Given the description of an element on the screen output the (x, y) to click on. 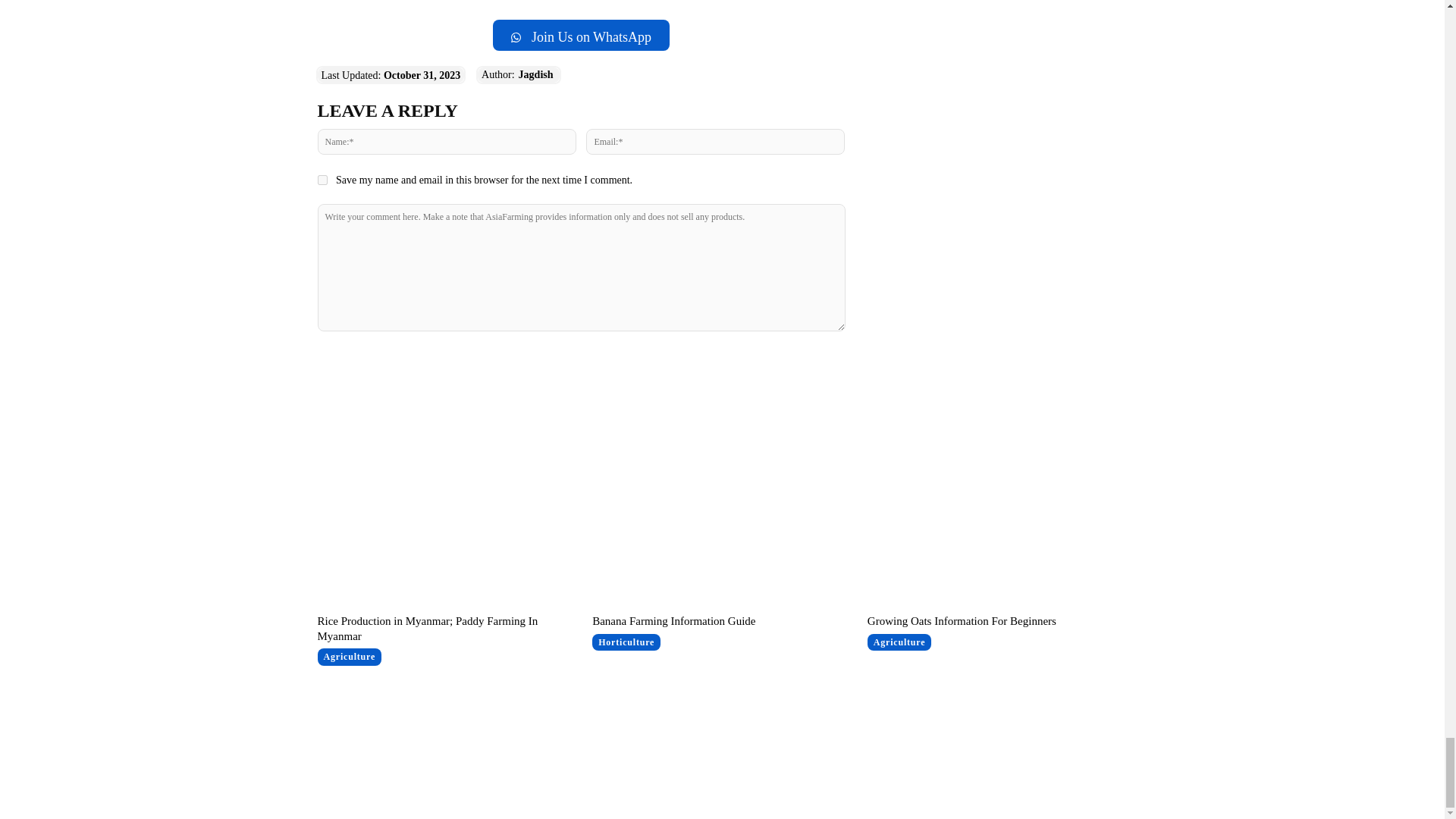
Join Us on WhatsApp (581, 34)
yes (321, 180)
Post Comment (581, 361)
